Given the description of an element on the screen output the (x, y) to click on. 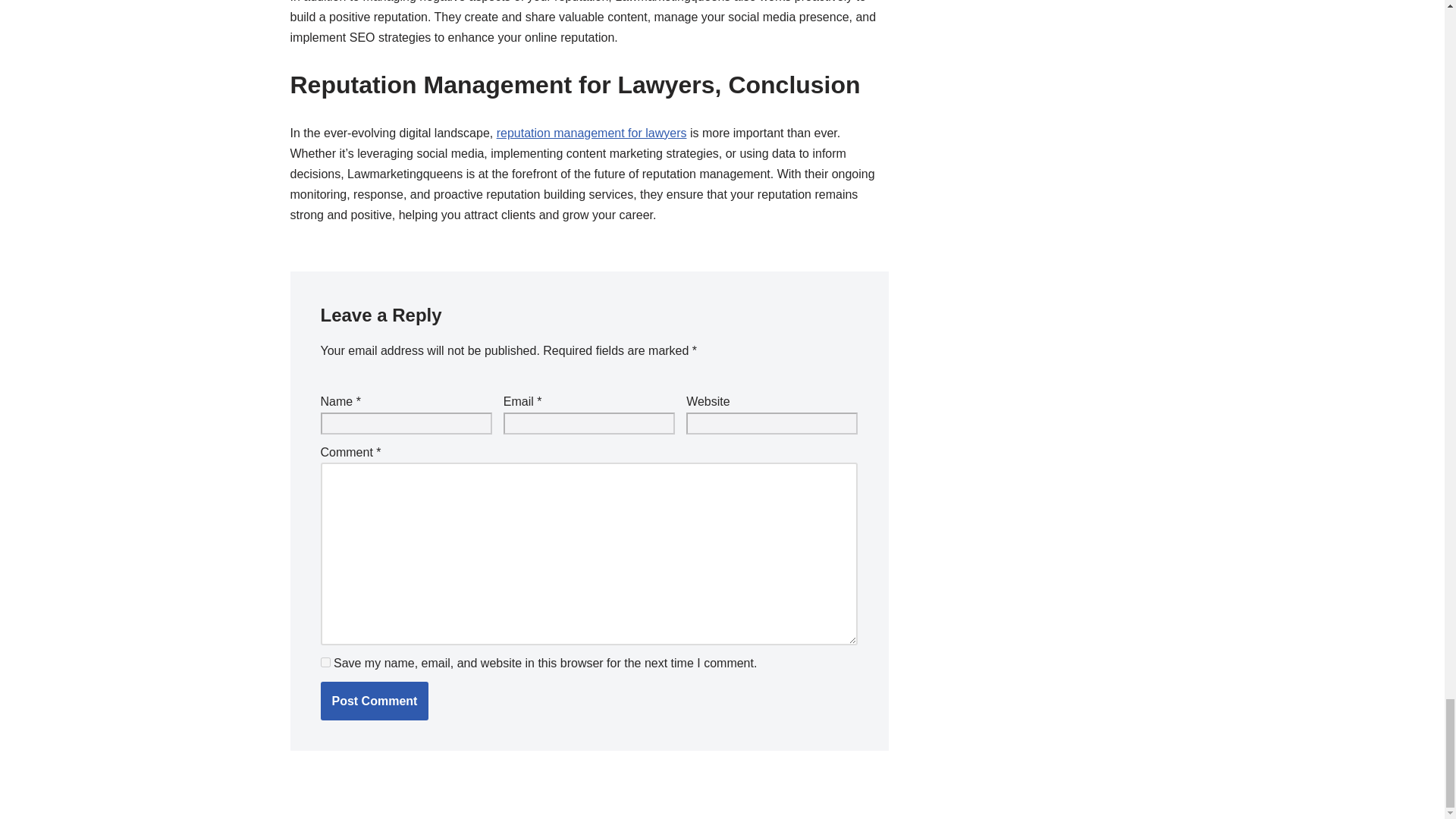
reputation management for lawyers (591, 132)
Post Comment (374, 701)
Post Comment (374, 701)
yes (325, 662)
